Given the description of an element on the screen output the (x, y) to click on. 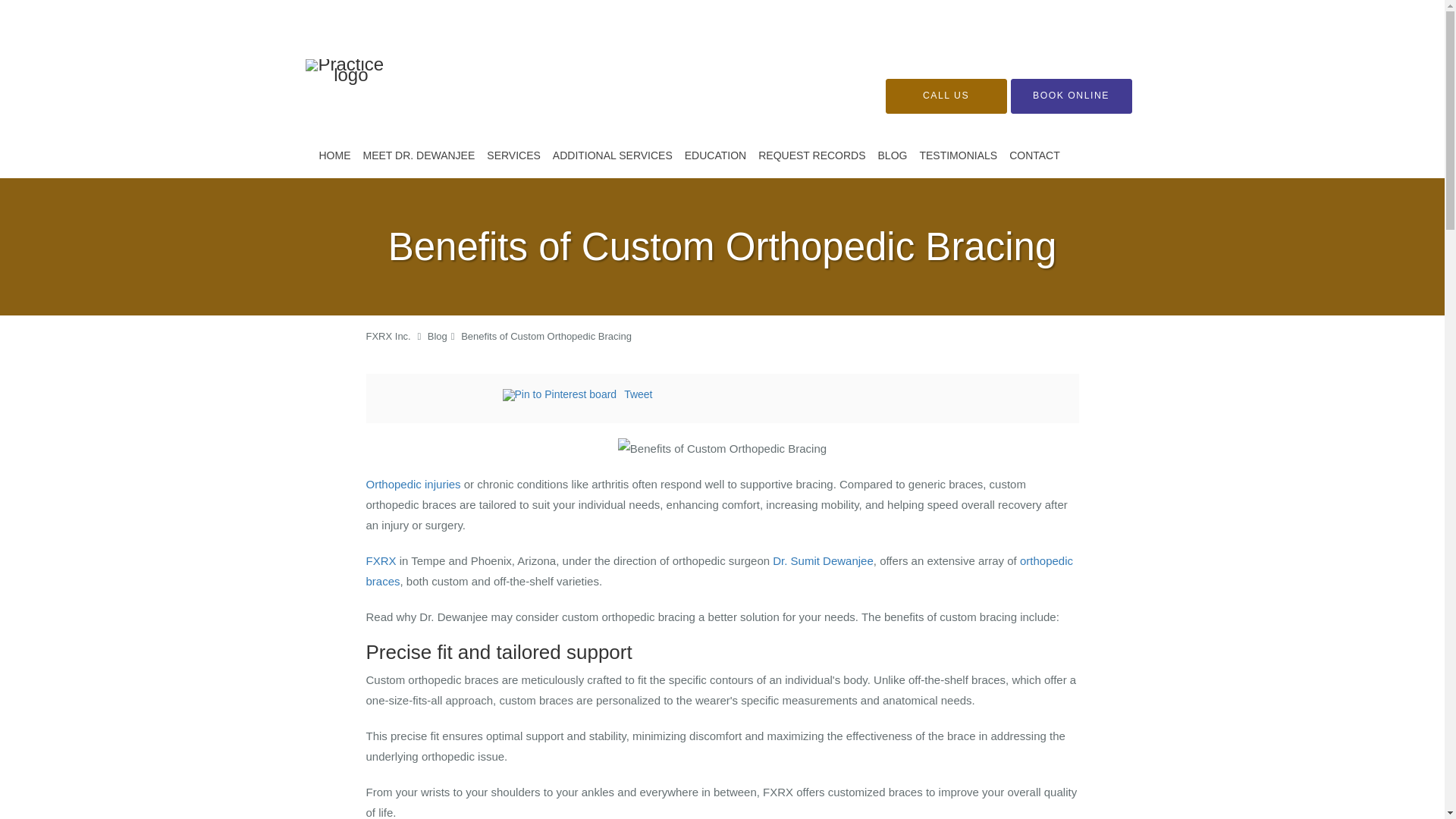
Facebook social button (441, 396)
BOOK ONLINE (1070, 95)
FXRX (380, 560)
EDUCATION (715, 155)
ADDITIONAL SERVICES (612, 155)
FXRX Inc. (387, 336)
REQUEST RECORDS (811, 155)
Tweet (638, 394)
SERVICES (513, 155)
CONTACT (1034, 155)
